Given the description of an element on the screen output the (x, y) to click on. 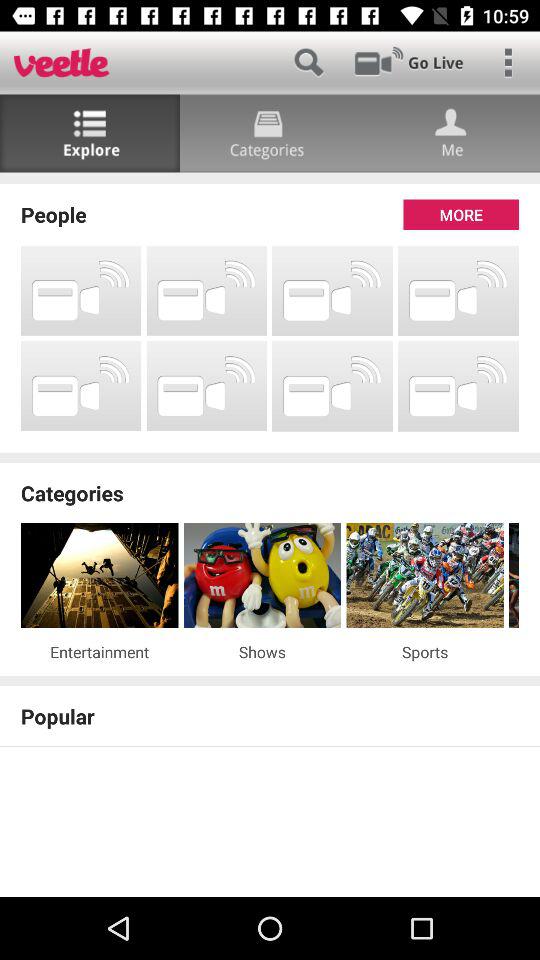
click app below people item (81, 290)
